Given the description of an element on the screen output the (x, y) to click on. 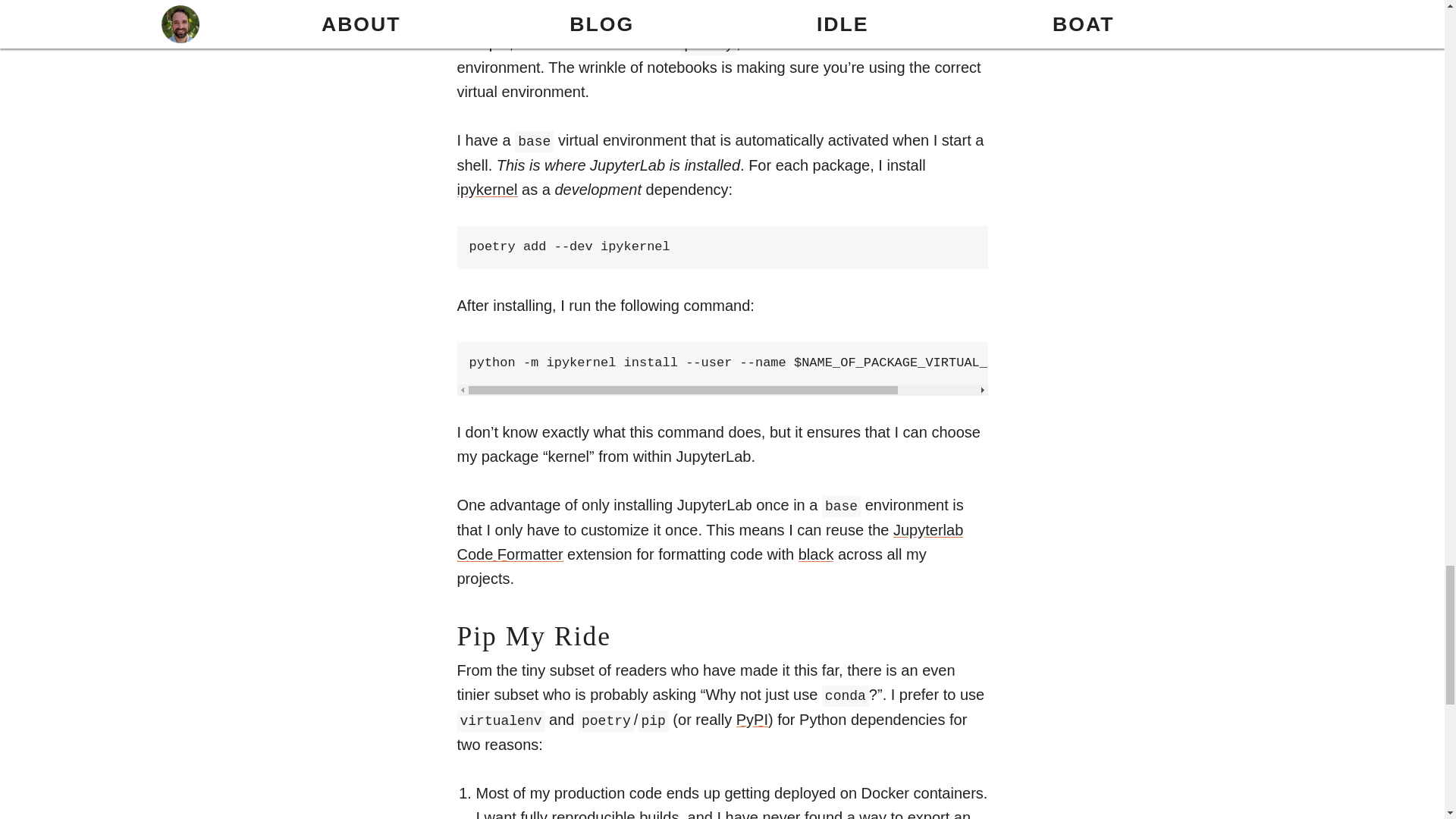
Jupyterlab Code Formatter (709, 541)
ipykernel (486, 189)
PyPI (752, 719)
black (815, 554)
never found a way (824, 814)
